Given the description of an element on the screen output the (x, y) to click on. 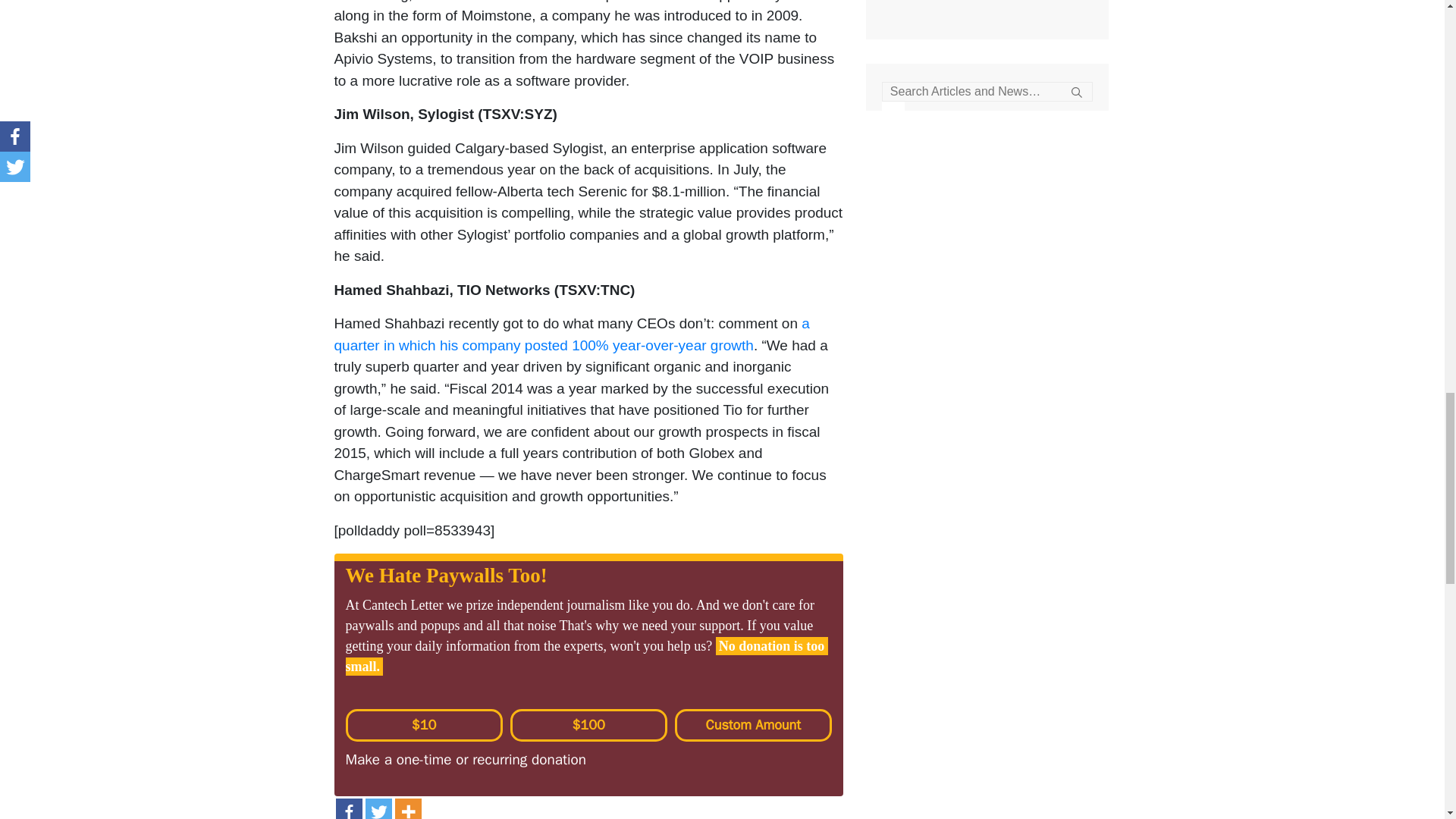
Twitter (378, 808)
More (407, 808)
Facebook (347, 808)
